Given the description of an element on the screen output the (x, y) to click on. 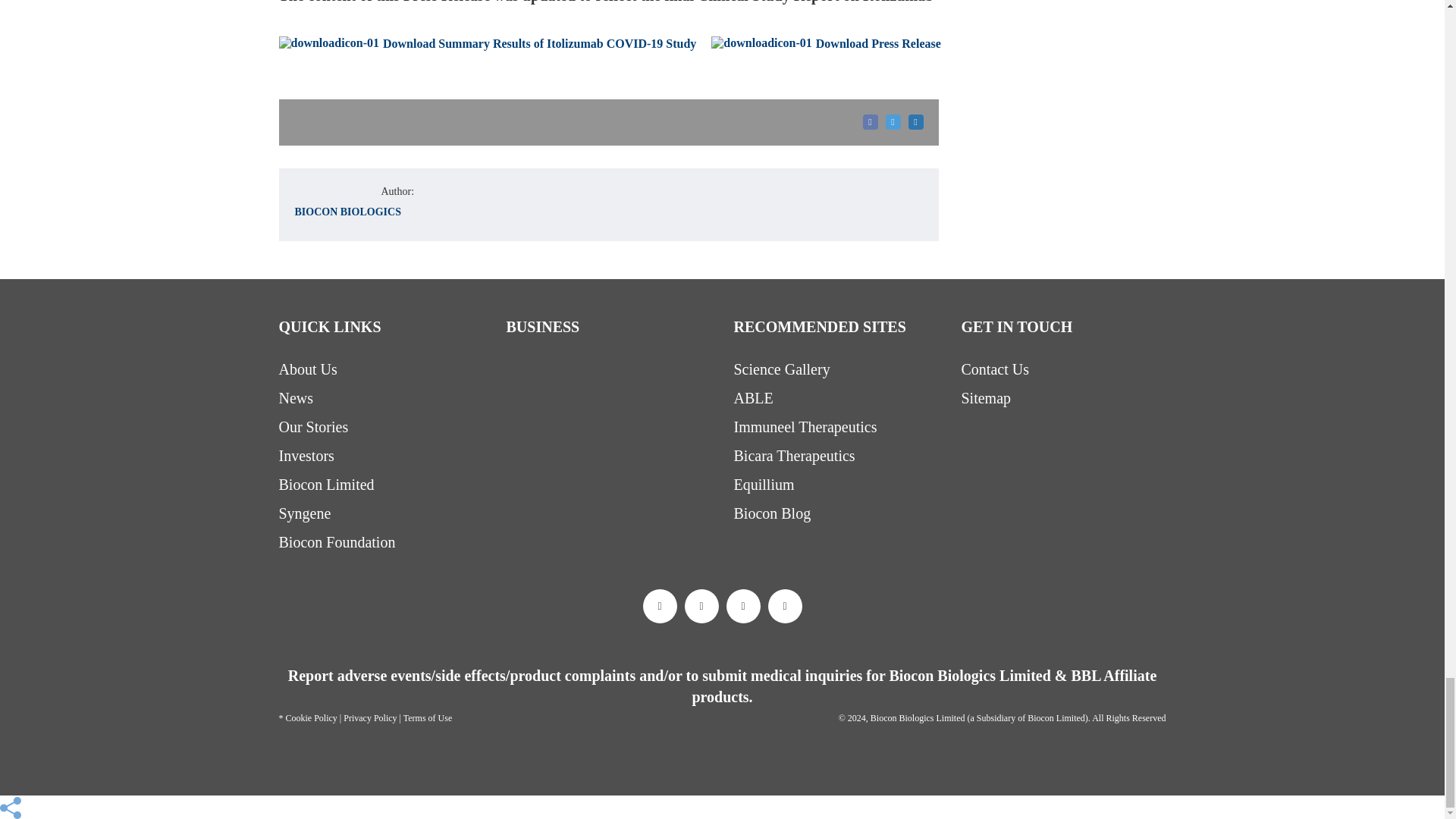
downloadicon-01 (328, 42)
downloadicon-01 (760, 42)
